Given the description of an element on the screen output the (x, y) to click on. 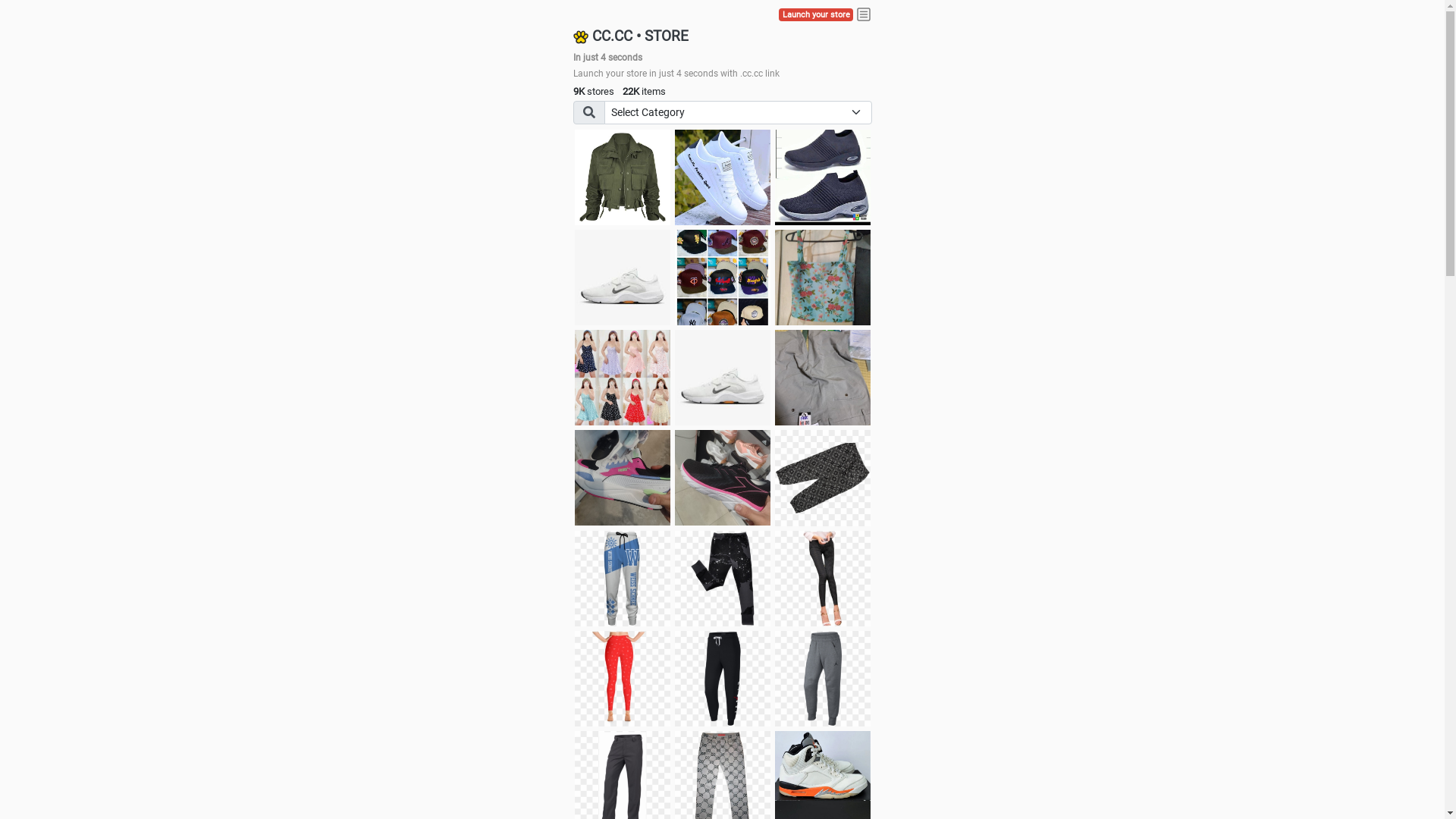
Ukay cloth Element type: hover (822, 277)
Pant Element type: hover (722, 578)
Dress/square nect top Element type: hover (622, 377)
Zapatillas Element type: hover (722, 477)
shoes for boys Element type: hover (822, 177)
Shoes Element type: hover (722, 377)
Pant Element type: hover (622, 678)
Launch your store Element type: text (815, 14)
jacket Element type: hover (622, 177)
white shoes Element type: hover (722, 177)
Shoes for boys Element type: hover (622, 277)
Things we need Element type: hover (722, 277)
Zapatillas pumas Element type: hover (622, 477)
Pant Element type: hover (822, 578)
Short pant Element type: hover (822, 477)
Pant Element type: hover (822, 678)
Pant Element type: hover (622, 578)
Pant Element type: hover (722, 678)
